Given the description of an element on the screen output the (x, y) to click on. 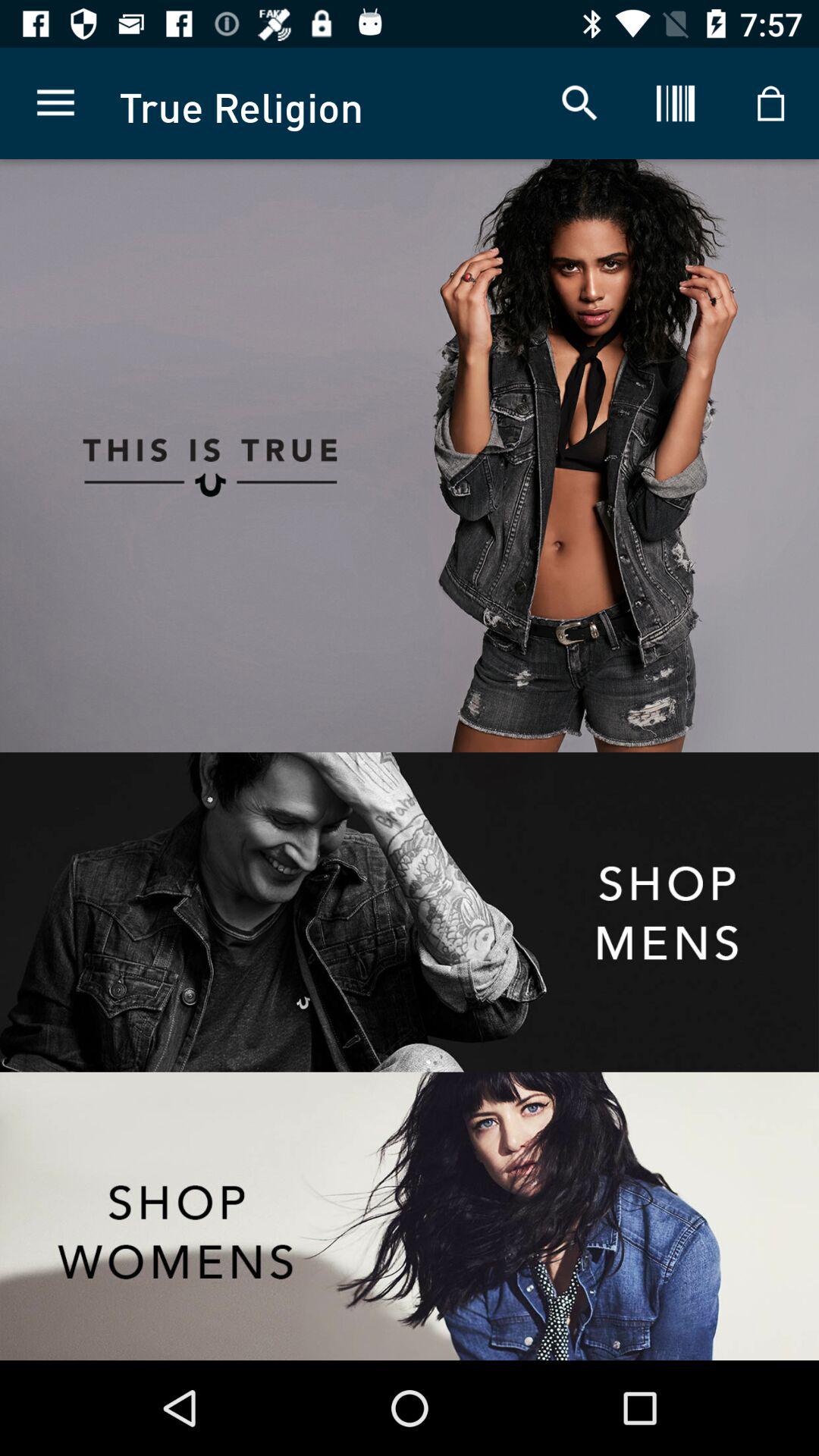
shop womens clothes (409, 1216)
